Given the description of an element on the screen output the (x, y) to click on. 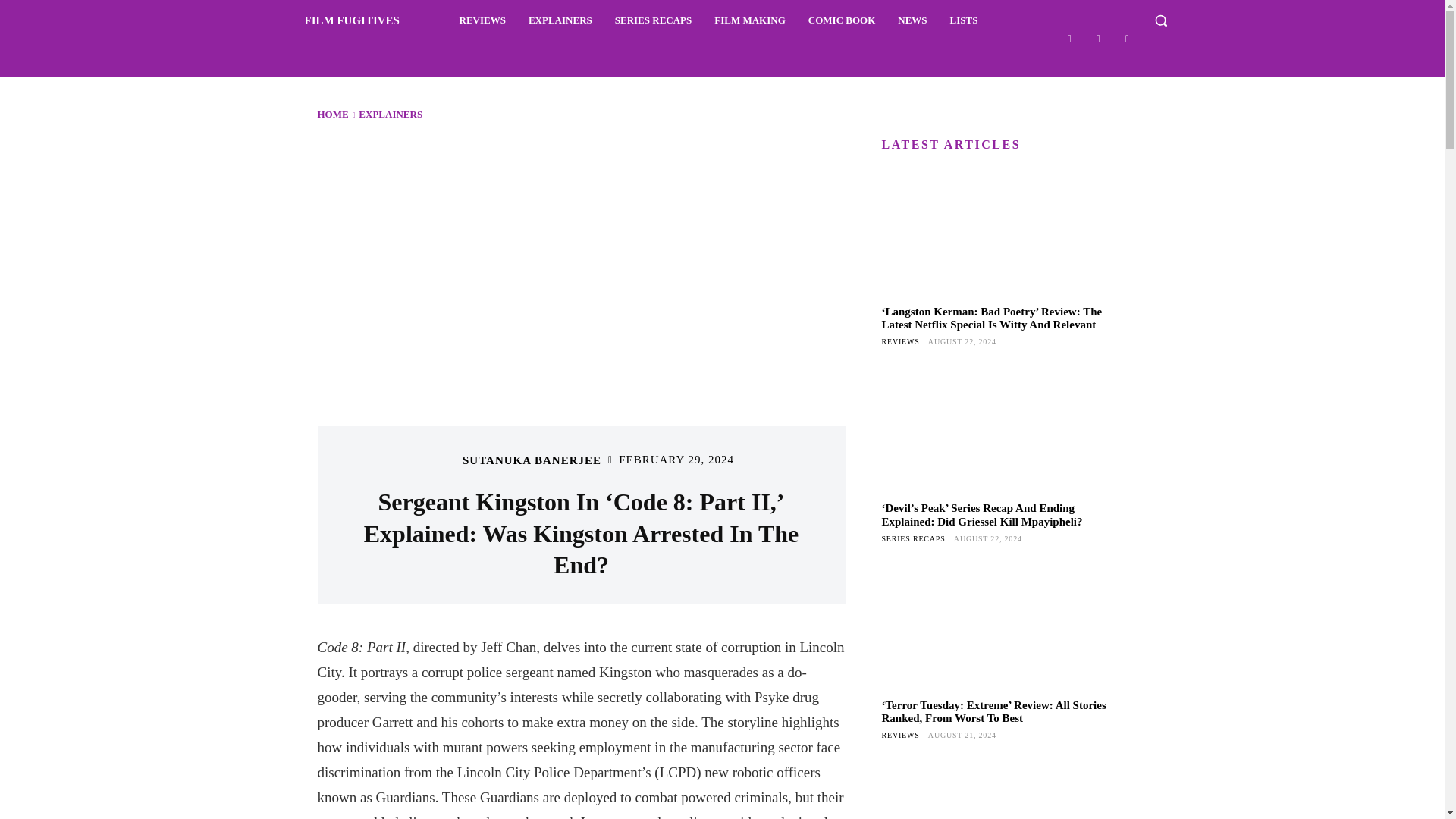
HOME (332, 113)
FILM FUGITIVES (333, 20)
FILM MAKING (749, 20)
SERIES RECAPS (653, 20)
EXPLAINERS (560, 20)
REVIEWS (482, 20)
Film Fugitives (333, 20)
LISTS (963, 20)
Facebook (1069, 38)
NEWS (911, 20)
